Given the description of an element on the screen output the (x, y) to click on. 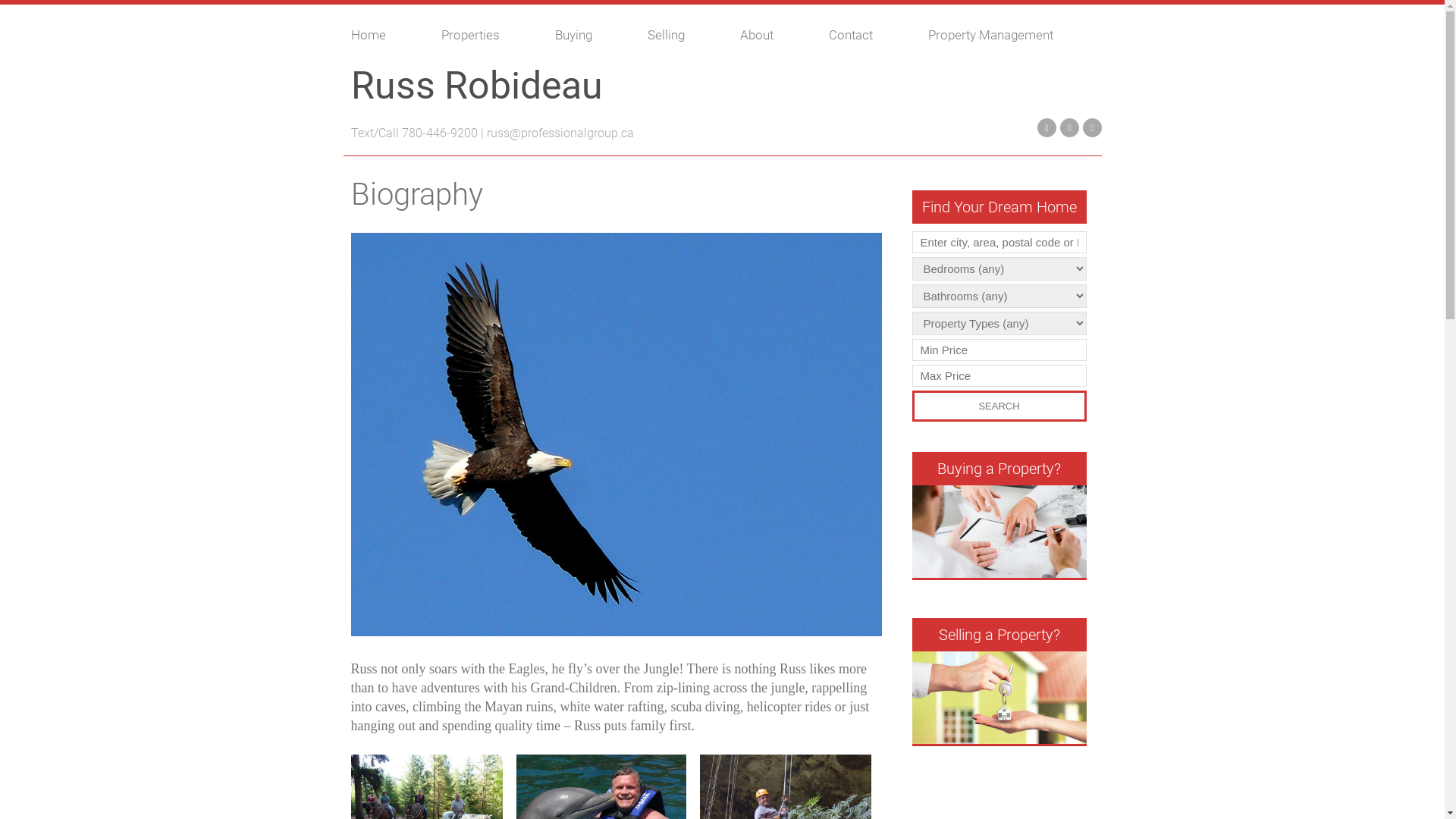
About Element type: text (776, 34)
Properties Element type: text (490, 34)
Property Management Element type: text (1010, 34)
SEARCH Element type: text (998, 405)
russ@professionalgroup.ca Element type: text (559, 132)
Contact Element type: text (870, 34)
Home Element type: text (387, 34)
Selling Element type: text (686, 34)
Buying Element type: text (593, 34)
